Given the description of an element on the screen output the (x, y) to click on. 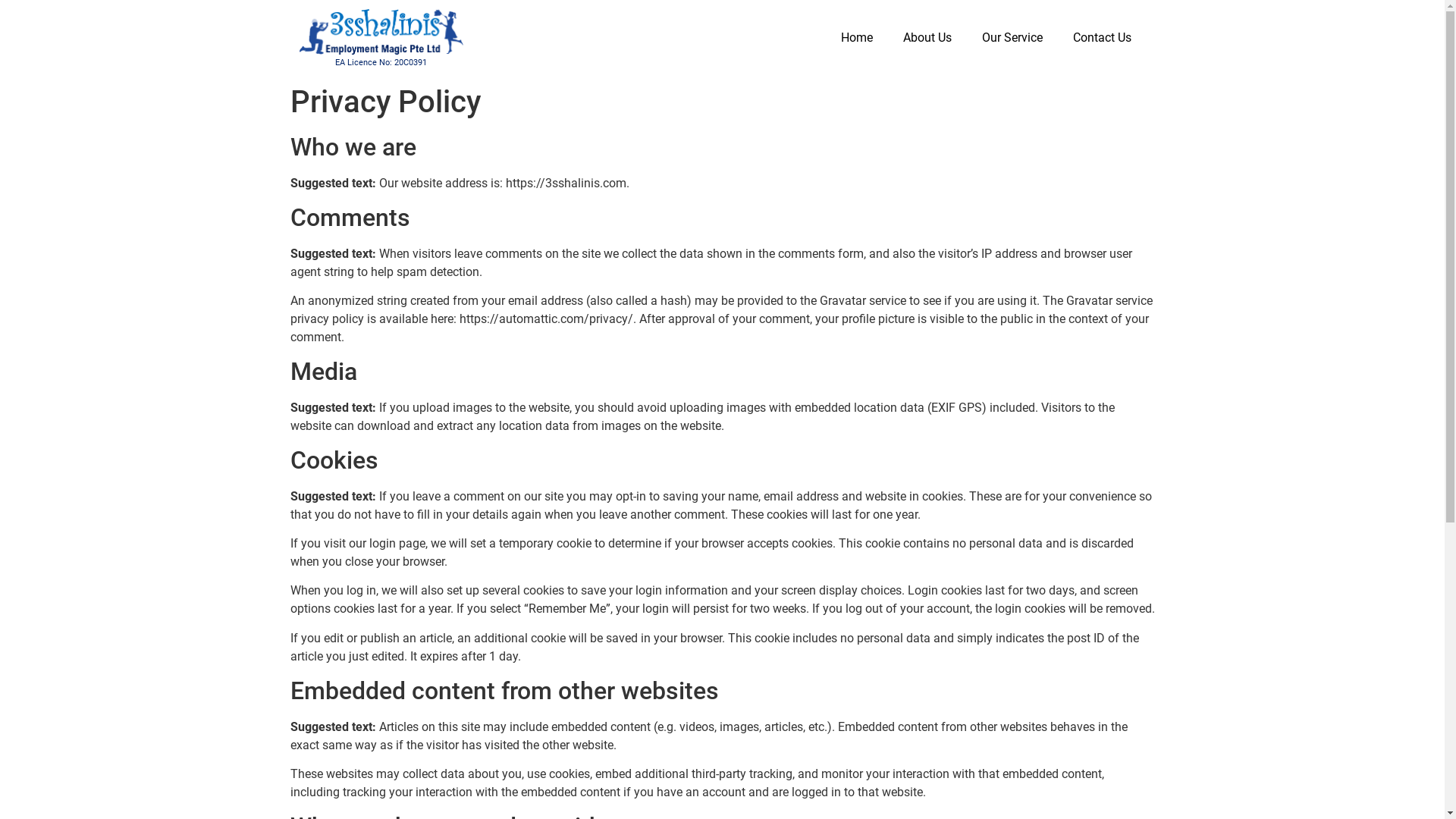
Home Element type: text (856, 37)
About Us Element type: text (927, 37)
Contact Us Element type: text (1101, 37)
Our Service Element type: text (1011, 37)
